Given the description of an element on the screen output the (x, y) to click on. 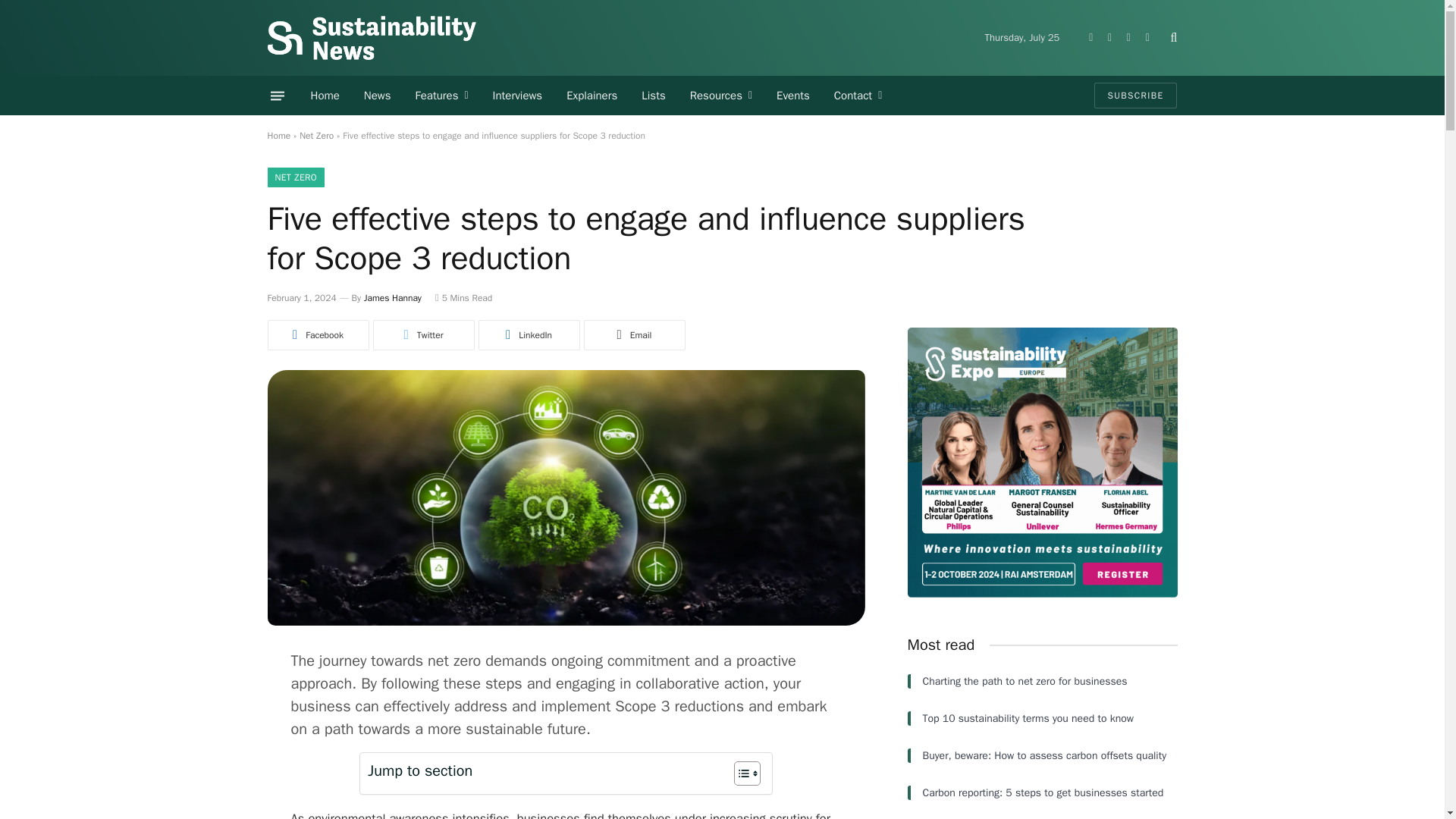
Home (325, 95)
Features (441, 95)
News (377, 95)
Posts by James Hannay (393, 297)
Share on Twitter (423, 335)
Share on Facebook (317, 335)
Share on LinkedIn (528, 335)
Interviews (517, 95)
